Given the description of an element on the screen output the (x, y) to click on. 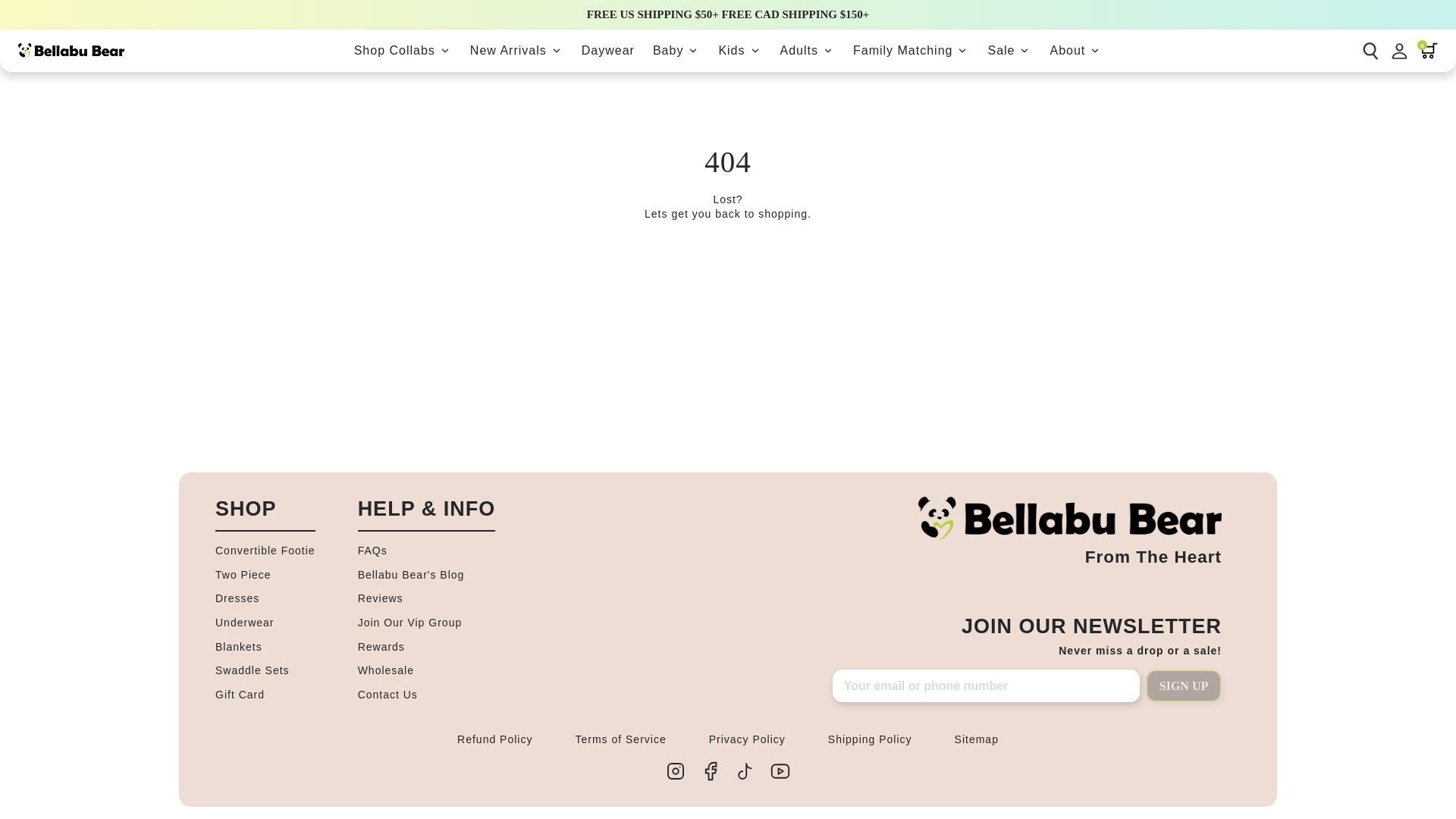
Baby (676, 50)
Gift Card (265, 694)
Blankets (265, 647)
Wholesale (427, 670)
New Arrivals (516, 50)
Daywear (607, 50)
Join Our Vip Group (427, 622)
Two Piece (265, 575)
Convertible Footie (265, 550)
Shop Collabs (403, 50)
